Given the description of an element on the screen output the (x, y) to click on. 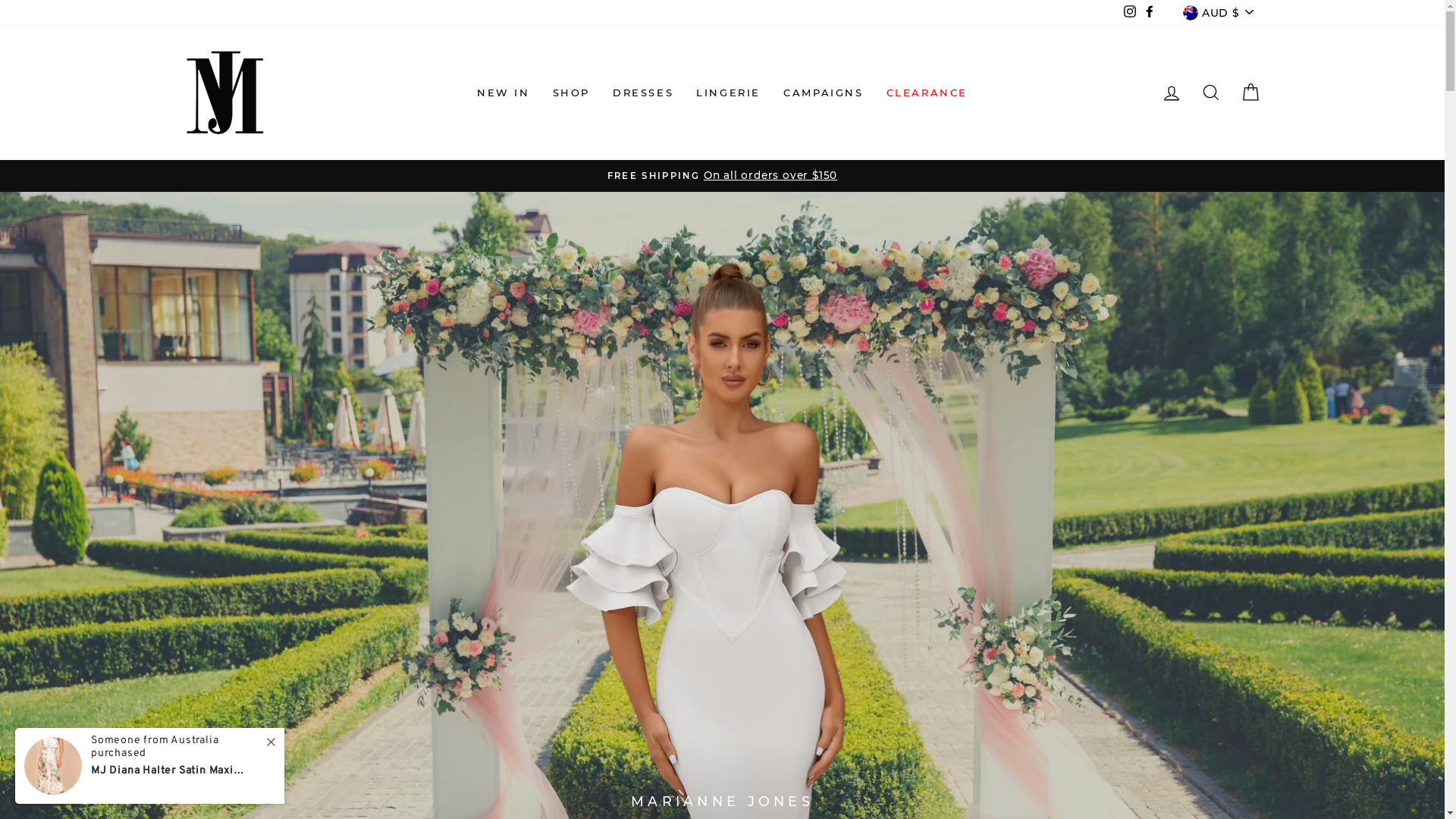
Instagram Element type: text (1129, 12)
CART Element type: text (1249, 92)
Skip to content Element type: text (0, 0)
CLEARANCE Element type: text (927, 92)
Facebook Element type: text (1149, 12)
LINGERIE Element type: text (727, 92)
DRESSES Element type: text (642, 92)
NEW IN Element type: text (503, 92)
SIZE CHARTS -available on every item Element type: text (722, 175)
LOG IN Element type: text (1170, 92)
AUD $ Element type: text (1217, 12)
SEARCH Element type: text (1210, 92)
SHOP Element type: text (571, 92)
CAMPAIGNS Element type: text (822, 92)
